Given the description of an element on the screen output the (x, y) to click on. 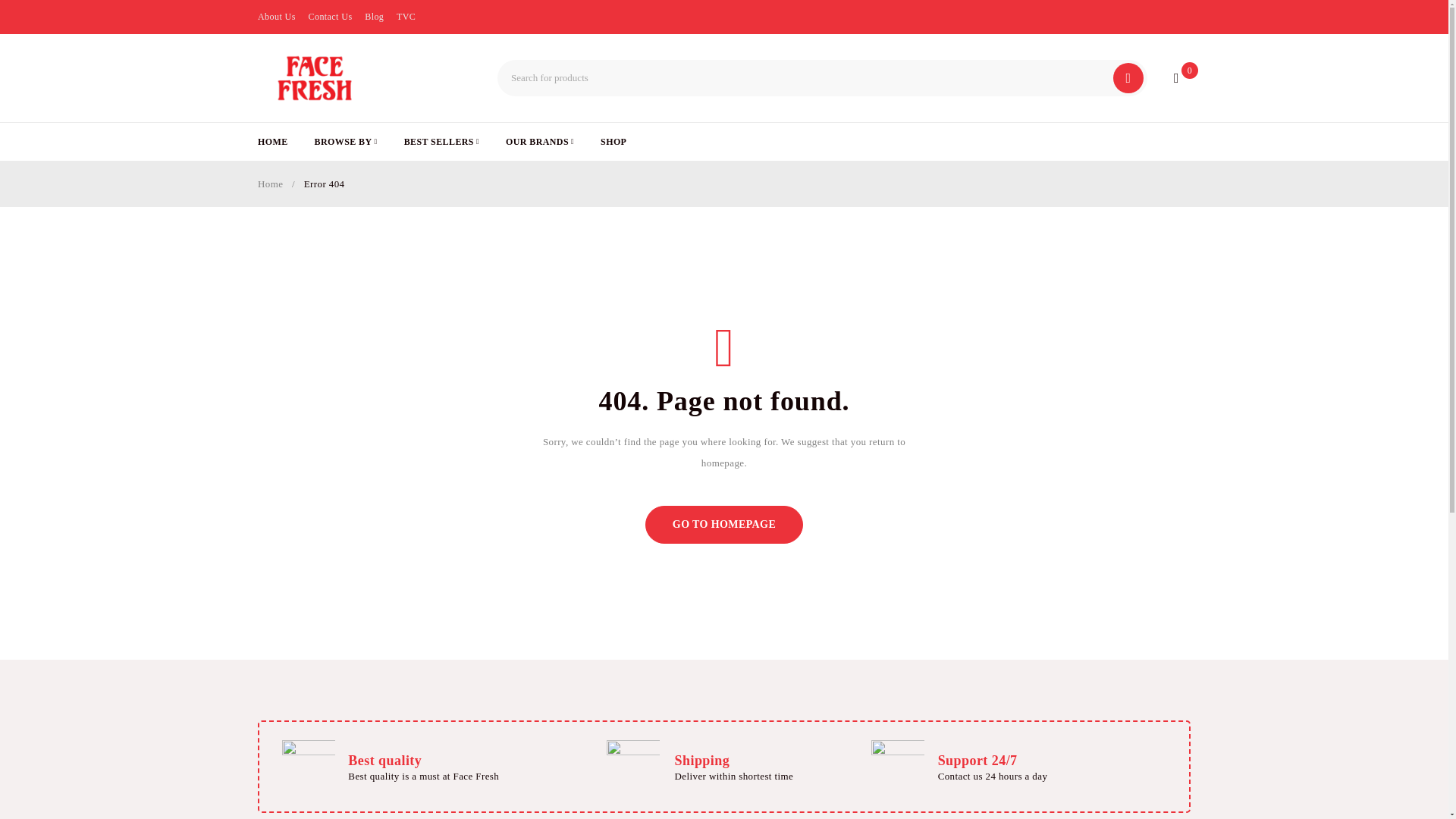
Search (1127, 78)
BEST SELLERS (441, 141)
About Us (276, 16)
HOME (272, 141)
Contact Us (329, 16)
TVC (405, 16)
BROWSE BY (345, 141)
Blog (374, 16)
Face Fresh (314, 78)
Search (1127, 78)
